Given the description of an element on the screen output the (x, y) to click on. 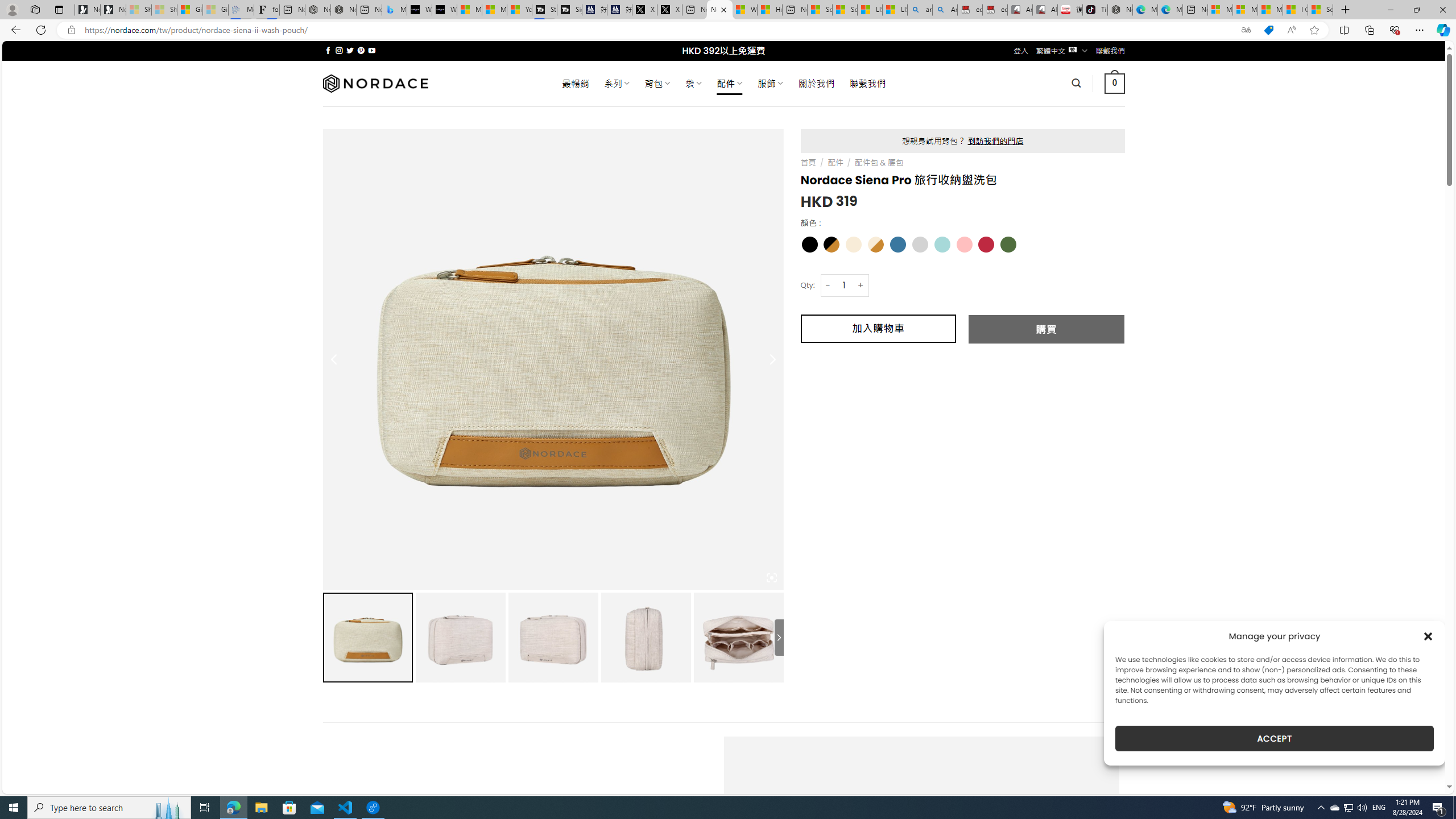
Amazon Echo Dot PNG - Search Images (944, 9)
Huge shark washes ashore at New York City beach | Watch (769, 9)
Microsoft Bing Travel - Shangri-La Hotel Bangkok (394, 9)
Class: iconic-woothumbs-fullscreen (771, 577)
Newsletter Sign Up (113, 9)
